Given the description of an element on the screen output the (x, y) to click on. 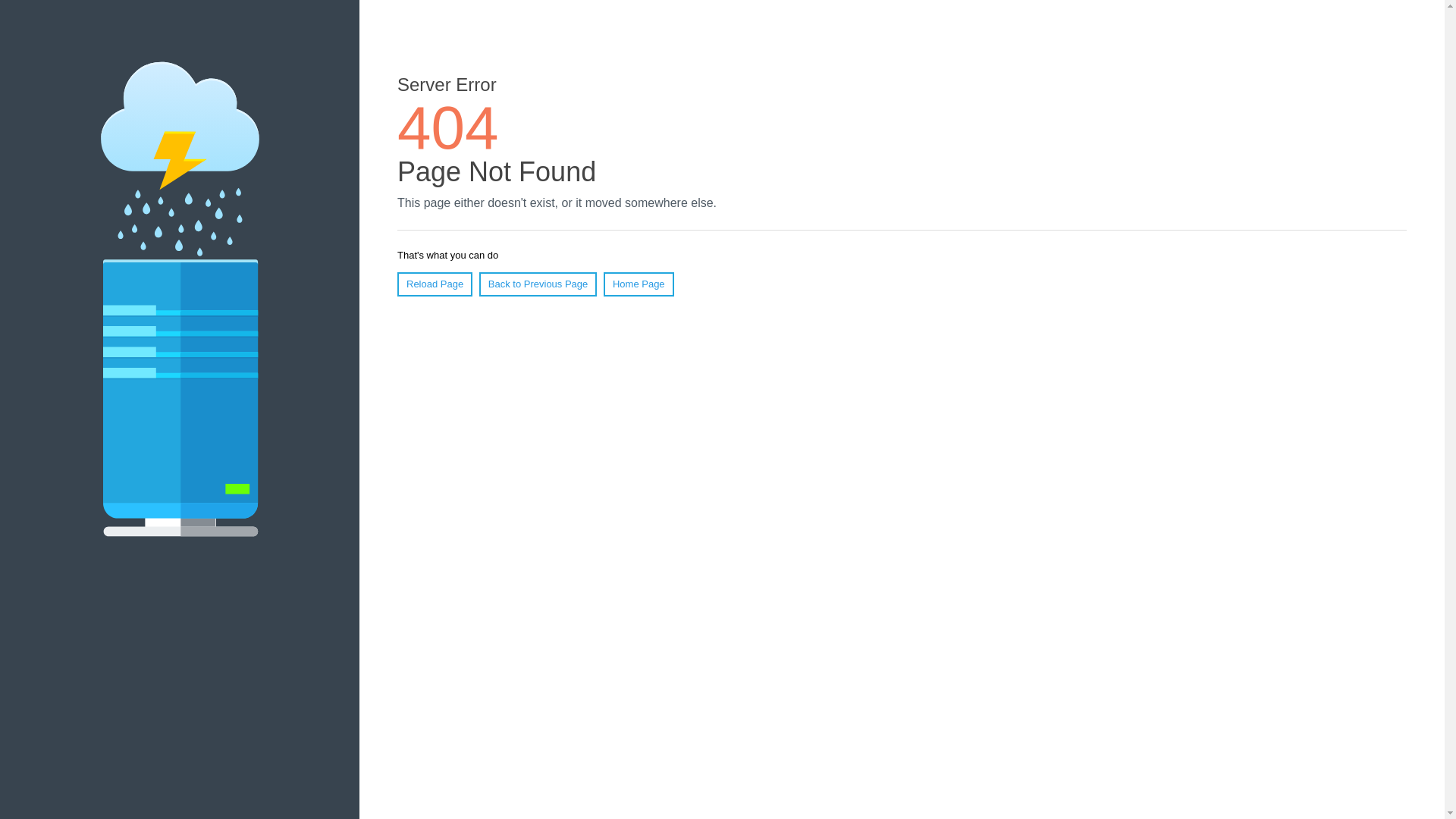
Back to Previous Page Element type: text (538, 284)
Home Page Element type: text (638, 284)
Reload Page Element type: text (434, 284)
